Given the description of an element on the screen output the (x, y) to click on. 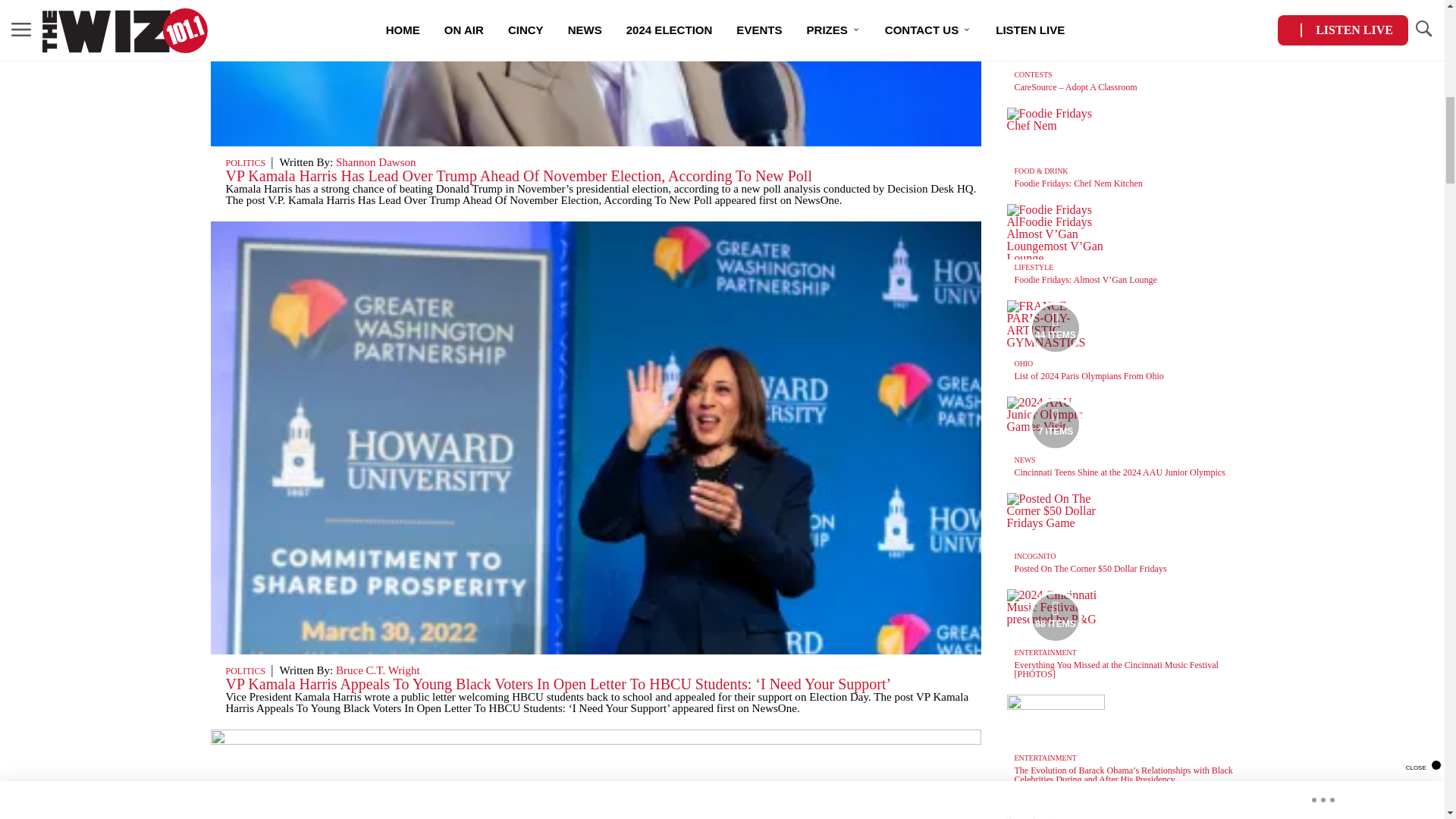
POLITICS (245, 670)
Bruce C.T. Wright (378, 670)
Media Playlist (1055, 423)
Shannon Dawson (376, 162)
Media Playlist (1055, 328)
POLITICS (245, 163)
Media Playlist (1055, 615)
